Given the description of an element on the screen output the (x, y) to click on. 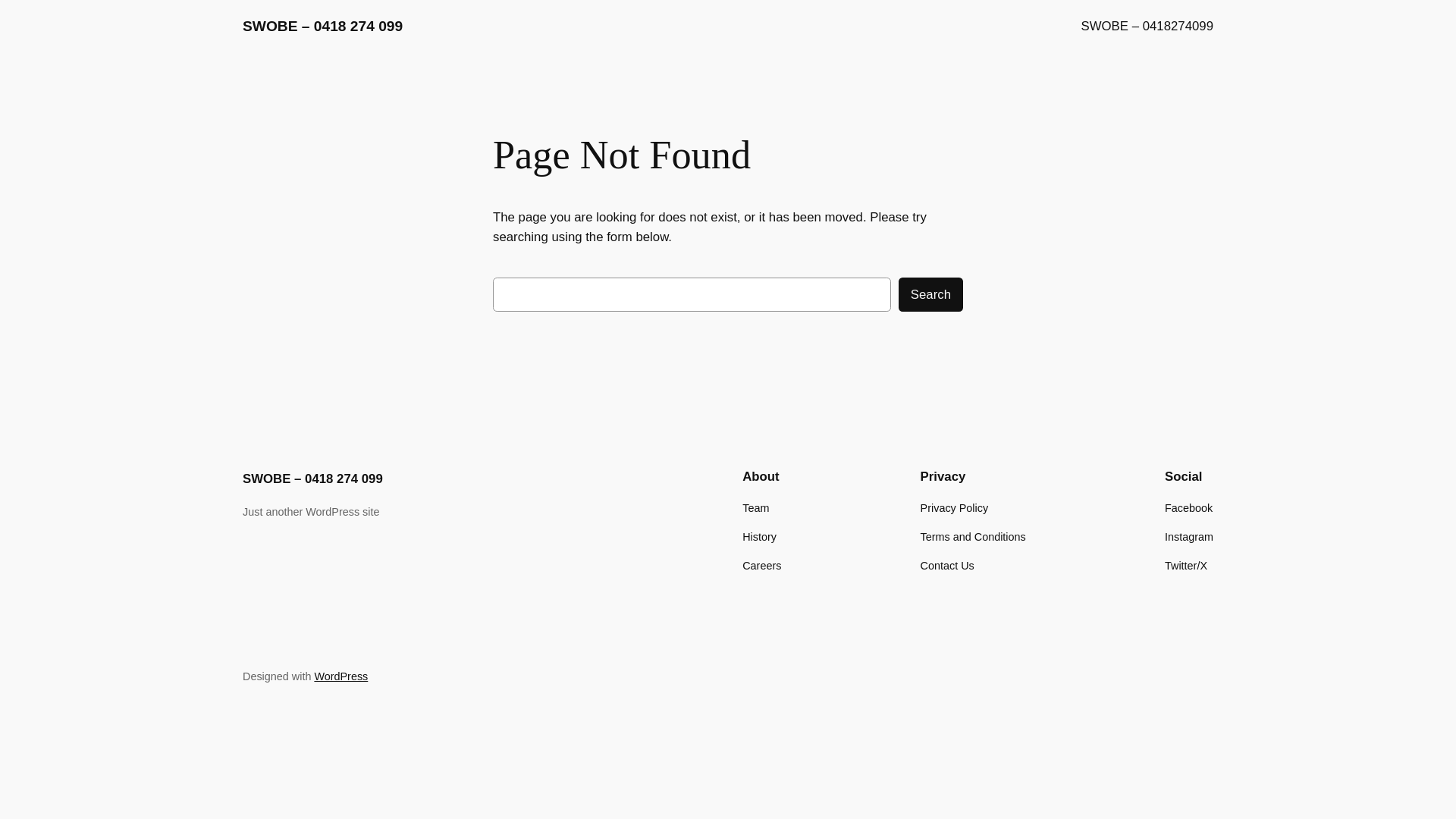
Team Element type: text (755, 507)
Contact Us Element type: text (947, 565)
Twitter/X Element type: text (1185, 565)
Instagram Element type: text (1188, 536)
Terms and Conditions Element type: text (973, 536)
Careers Element type: text (761, 565)
Facebook Element type: text (1188, 507)
History Element type: text (759, 536)
WordPress Element type: text (340, 676)
Search Element type: text (930, 294)
Privacy Policy Element type: text (954, 507)
